Given the description of an element on the screen output the (x, y) to click on. 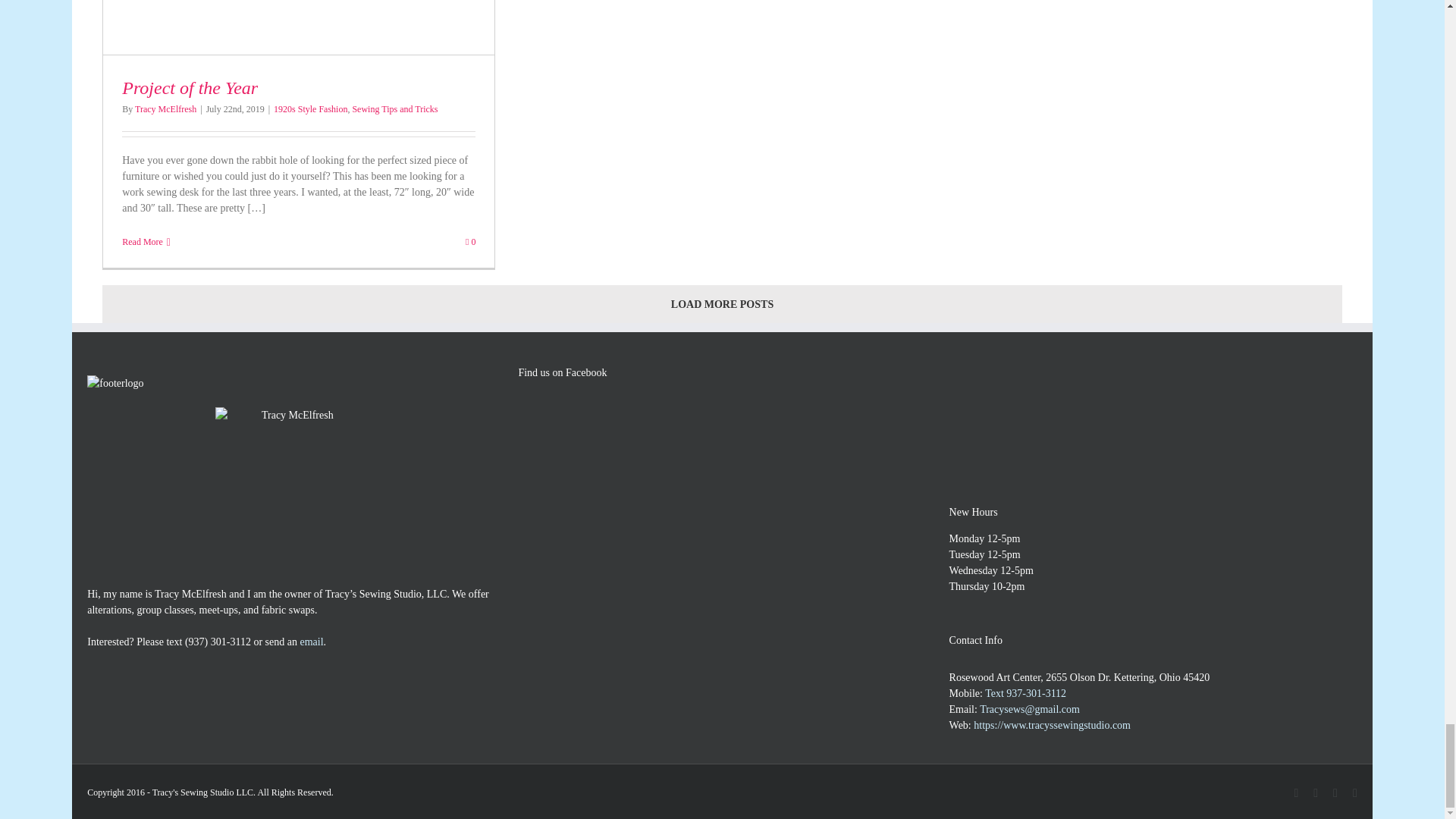
Posts by Tracy McElfresh (165, 109)
Call with Google Voice (217, 641)
